Given the description of an element on the screen output the (x, y) to click on. 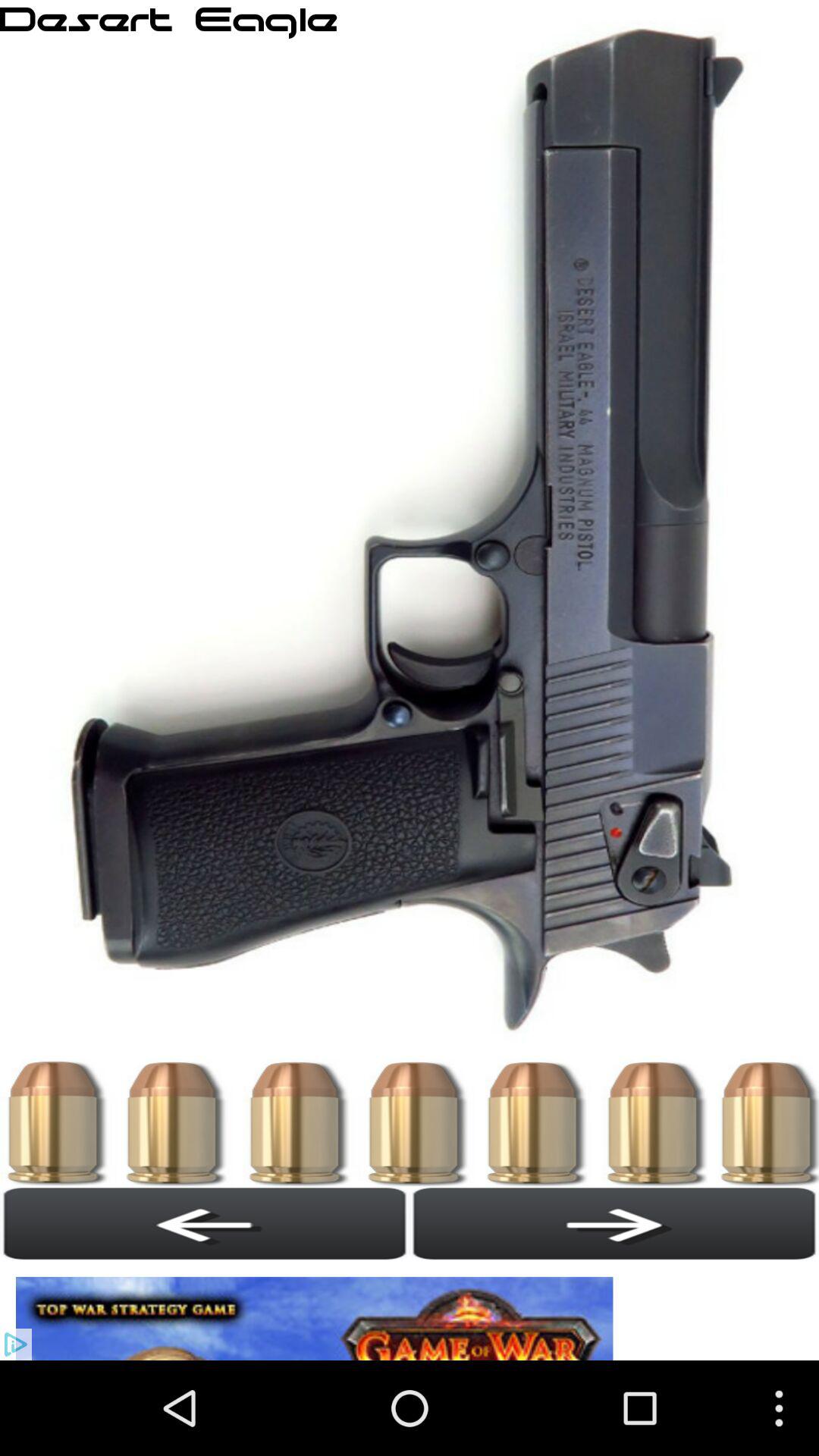
go back (204, 1223)
